Given the description of an element on the screen output the (x, y) to click on. 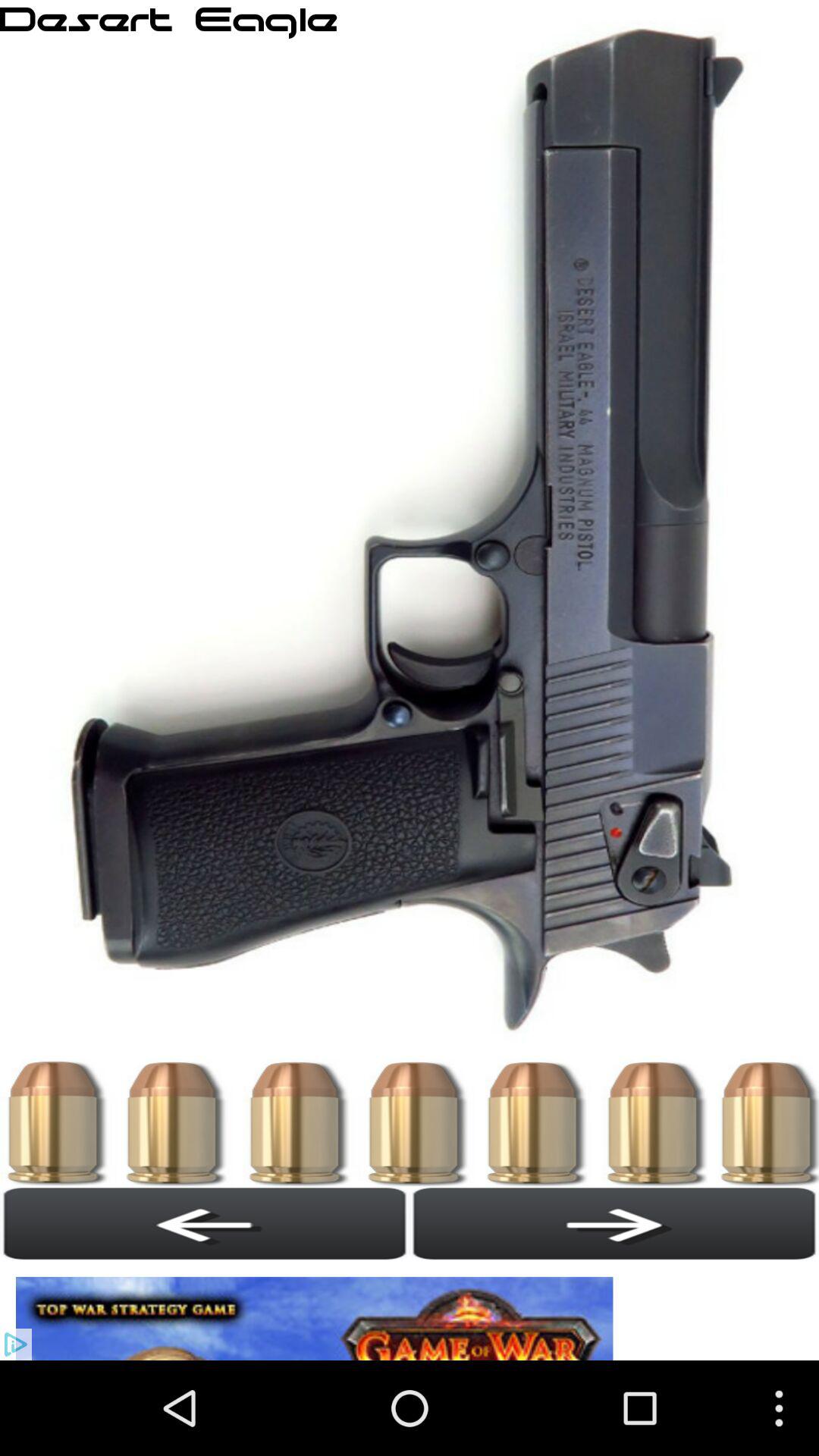
go back (204, 1223)
